Given the description of an element on the screen output the (x, y) to click on. 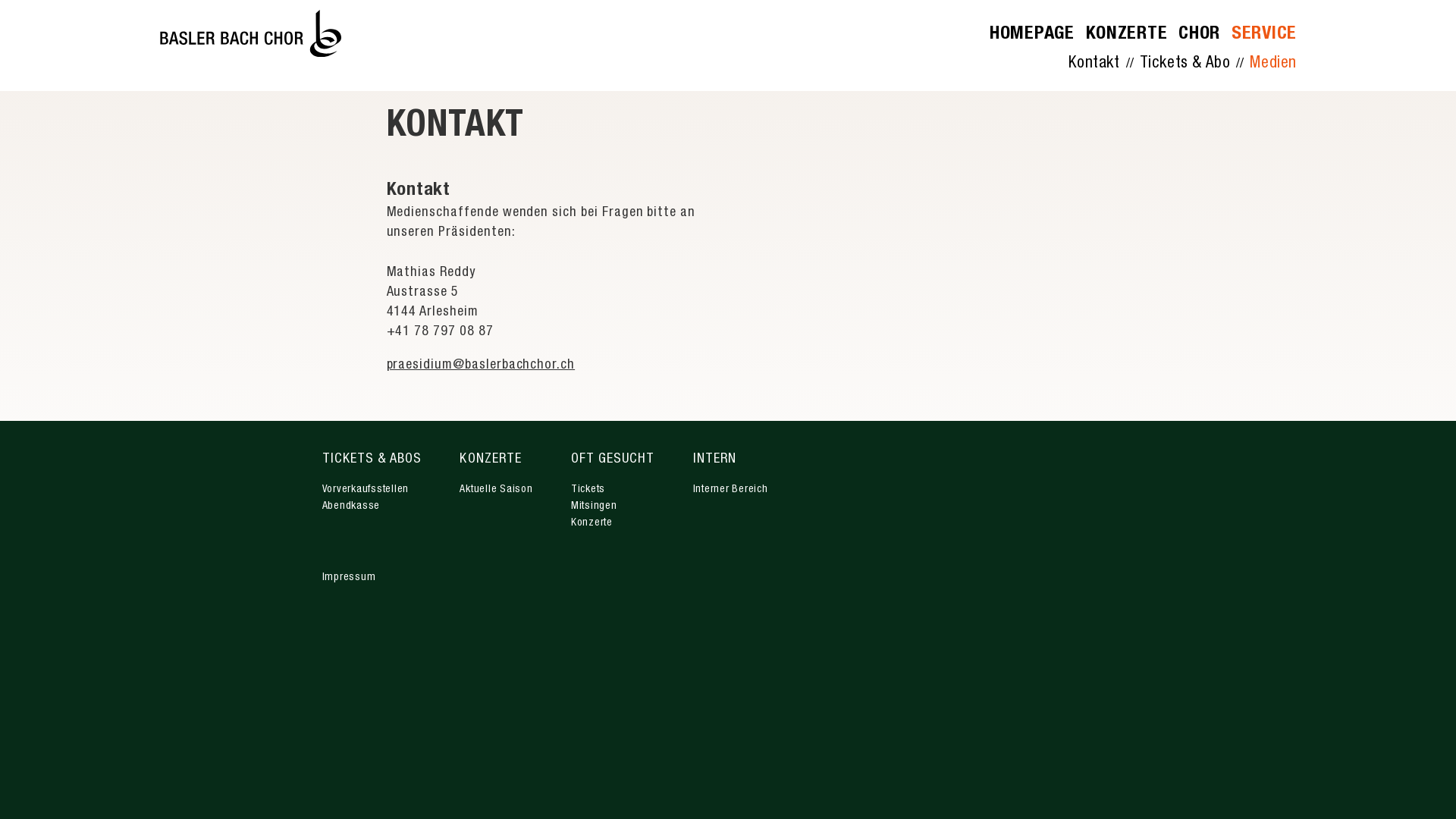
CHOR Element type: text (1199, 34)
HOMEPAGE Element type: text (1031, 34)
Kontakt Element type: text (1093, 64)
Vorverkaufsstellen Element type: text (364, 489)
SERVICE Element type: text (1263, 34)
KONZERTE Element type: text (1126, 34)
Konzerte Element type: text (591, 522)
praesidium@baslerbachchor.ch Element type: text (480, 365)
Abendkasse Element type: text (350, 506)
Mitsingen Element type: text (594, 506)
Aktuelle Saison Element type: text (495, 489)
Tickets Element type: text (588, 489)
Tickets & Abo Element type: text (1184, 64)
Impressum Element type: text (348, 577)
Medien Element type: text (1272, 64)
Interner Bereich Element type: text (730, 489)
